Given the description of an element on the screen output the (x, y) to click on. 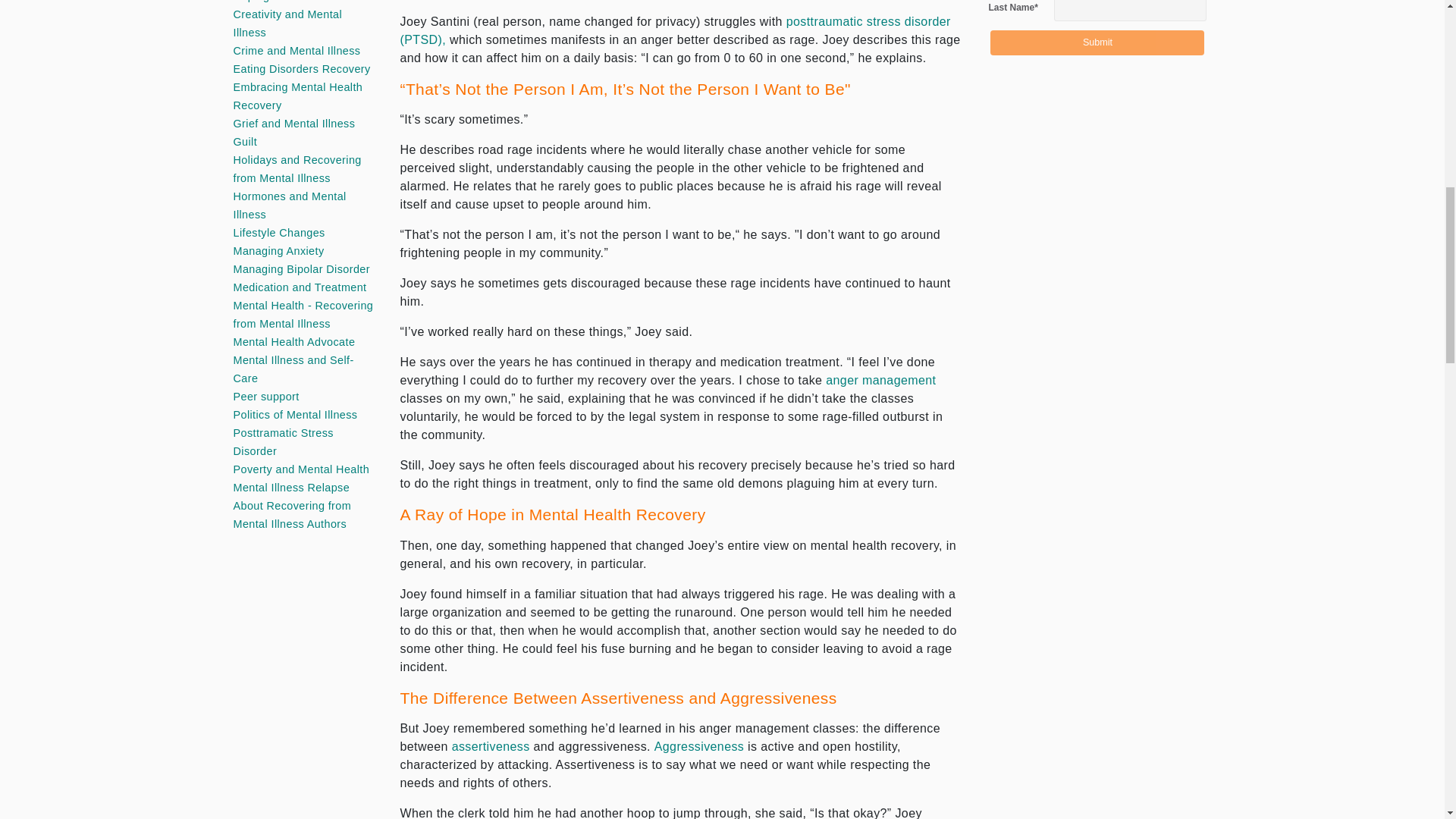
Submit (1097, 42)
 Anger Management (880, 379)
6 Ways to Reduce PTSD Stress During the Holidays (675, 30)
 Assertiveness, Non-Assertiveness, and Assertive Techniques (492, 746)
